Given the description of an element on the screen output the (x, y) to click on. 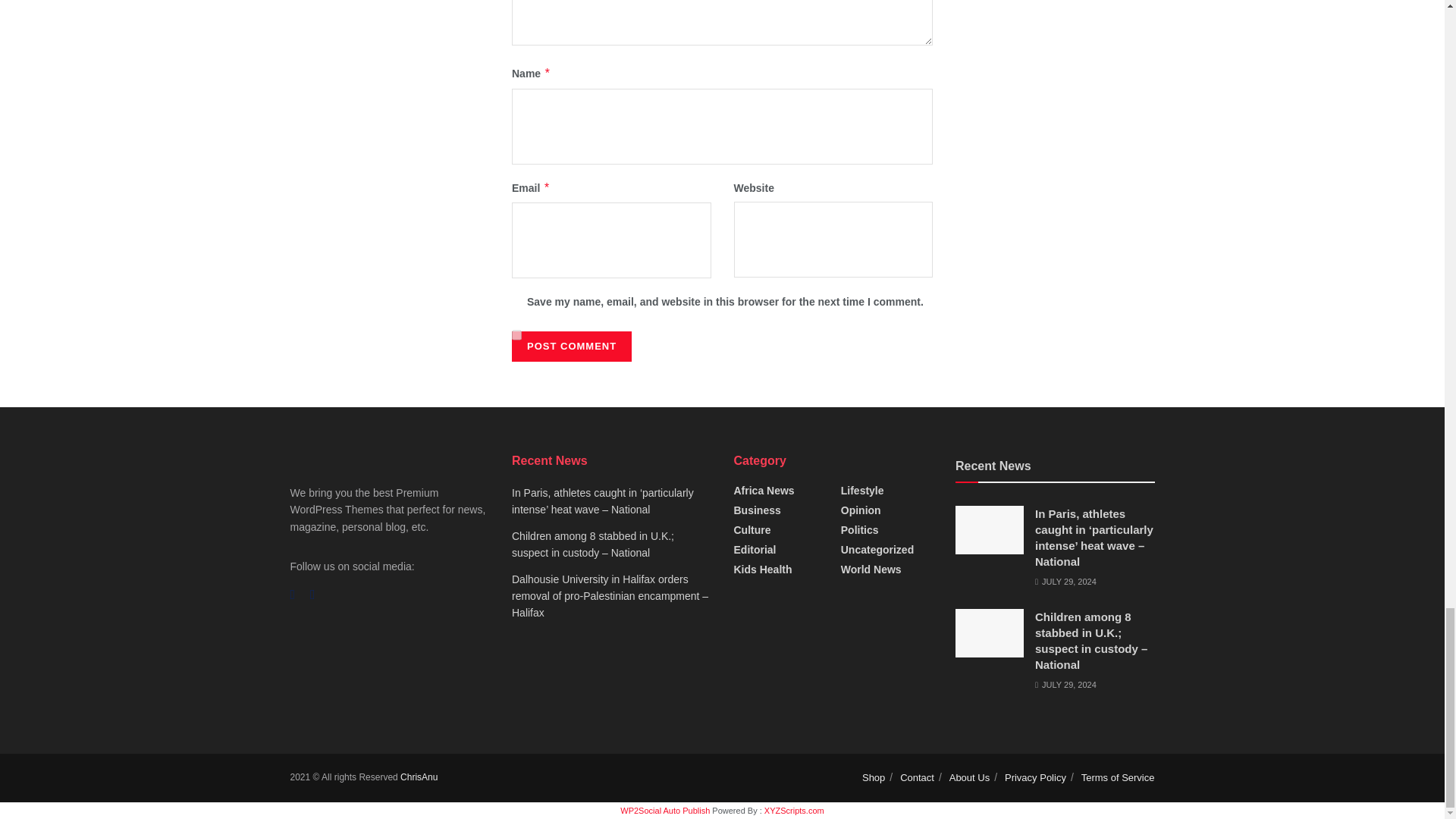
News (419, 777)
WP2Social Auto Publish (665, 809)
Post Comment (571, 346)
